Given the description of an element on the screen output the (x, y) to click on. 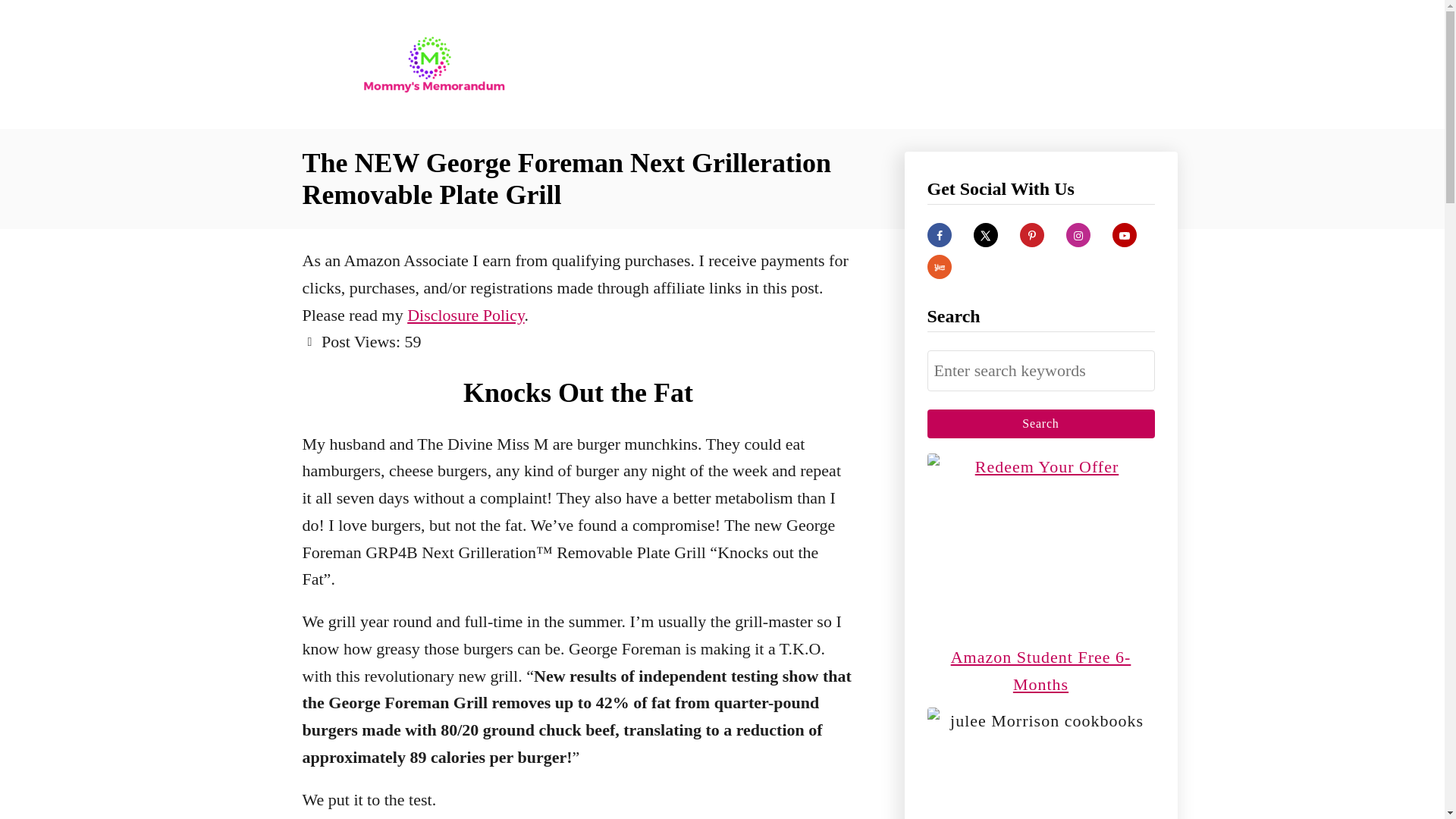
Disclosure Policy (465, 313)
Follow on Yummly (938, 266)
Mommy's Memorandum (433, 64)
Amazon Student Free 6-Months (1040, 670)
Search (1040, 423)
Follow on Pinterest (1031, 234)
Search (1040, 423)
Search (1040, 423)
Follow on Facebook (938, 234)
Follow on YouTube (1124, 234)
